Given the description of an element on the screen output the (x, y) to click on. 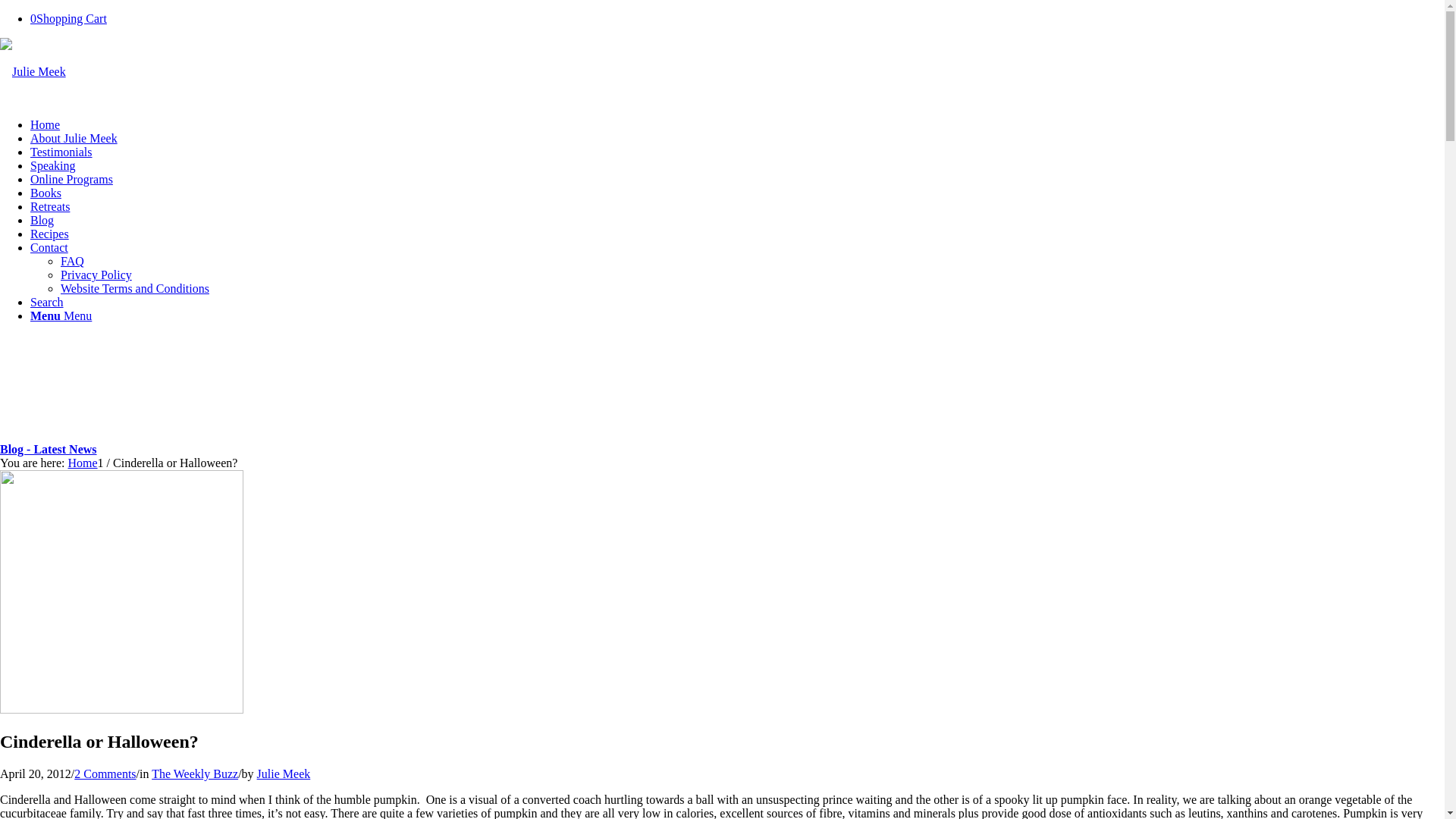
Home Element type: text (44, 124)
Blog Element type: text (41, 219)
Testimonials Element type: text (61, 151)
julie-meek-logo Element type: hover (32, 71)
Julie Meek Element type: text (283, 773)
Contact Element type: text (49, 247)
shutterstock_213003997 Element type: hover (121, 708)
Website Terms and Conditions Element type: text (134, 288)
Search Element type: text (46, 301)
FAQ Element type: text (72, 260)
Retreats Element type: text (49, 206)
0Shopping Cart Element type: text (68, 18)
2 Comments Element type: text (104, 773)
About Julie Meek Element type: text (73, 137)
Blog - Latest News Element type: text (48, 448)
Home Element type: text (82, 462)
Speaking Element type: text (52, 165)
Recipes Element type: text (49, 233)
Menu Menu Element type: text (60, 315)
Privacy Policy Element type: text (95, 274)
The Weekly Buzz Element type: text (194, 773)
Books Element type: text (45, 192)
Online Programs Element type: text (71, 178)
